Given the description of an element on the screen output the (x, y) to click on. 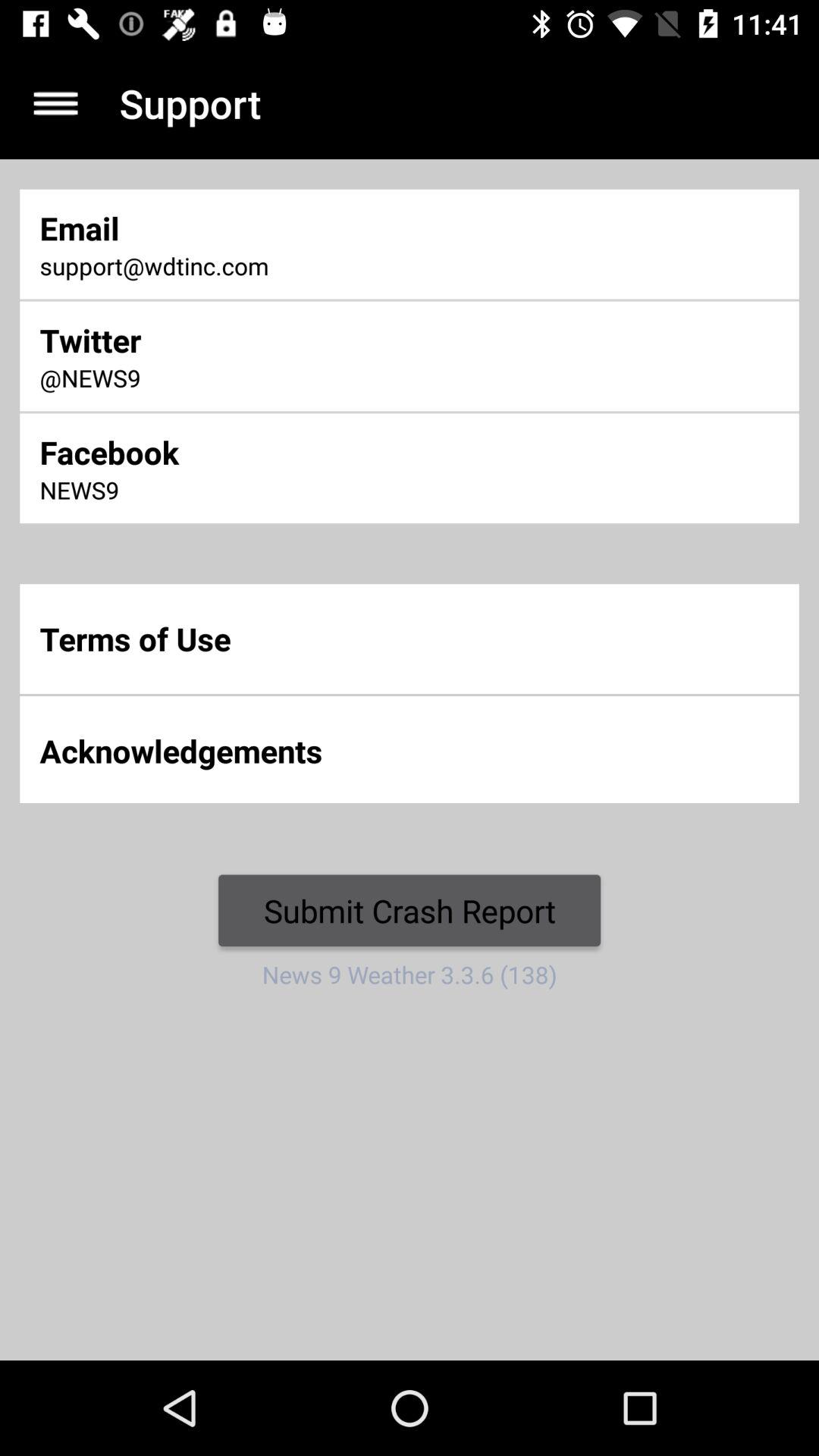
click support@wdtinc.com item (270, 267)
